Given the description of an element on the screen output the (x, y) to click on. 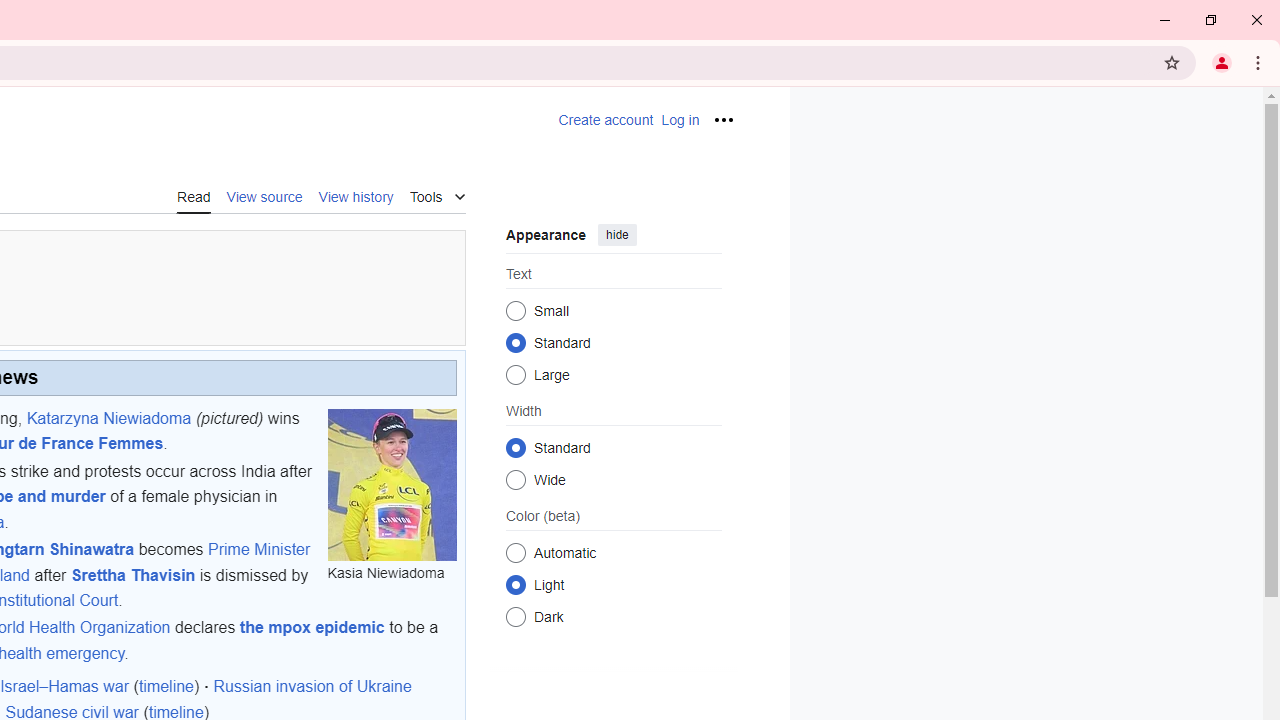
View source (264, 196)
Log in (680, 120)
